Given the description of an element on the screen output the (x, y) to click on. 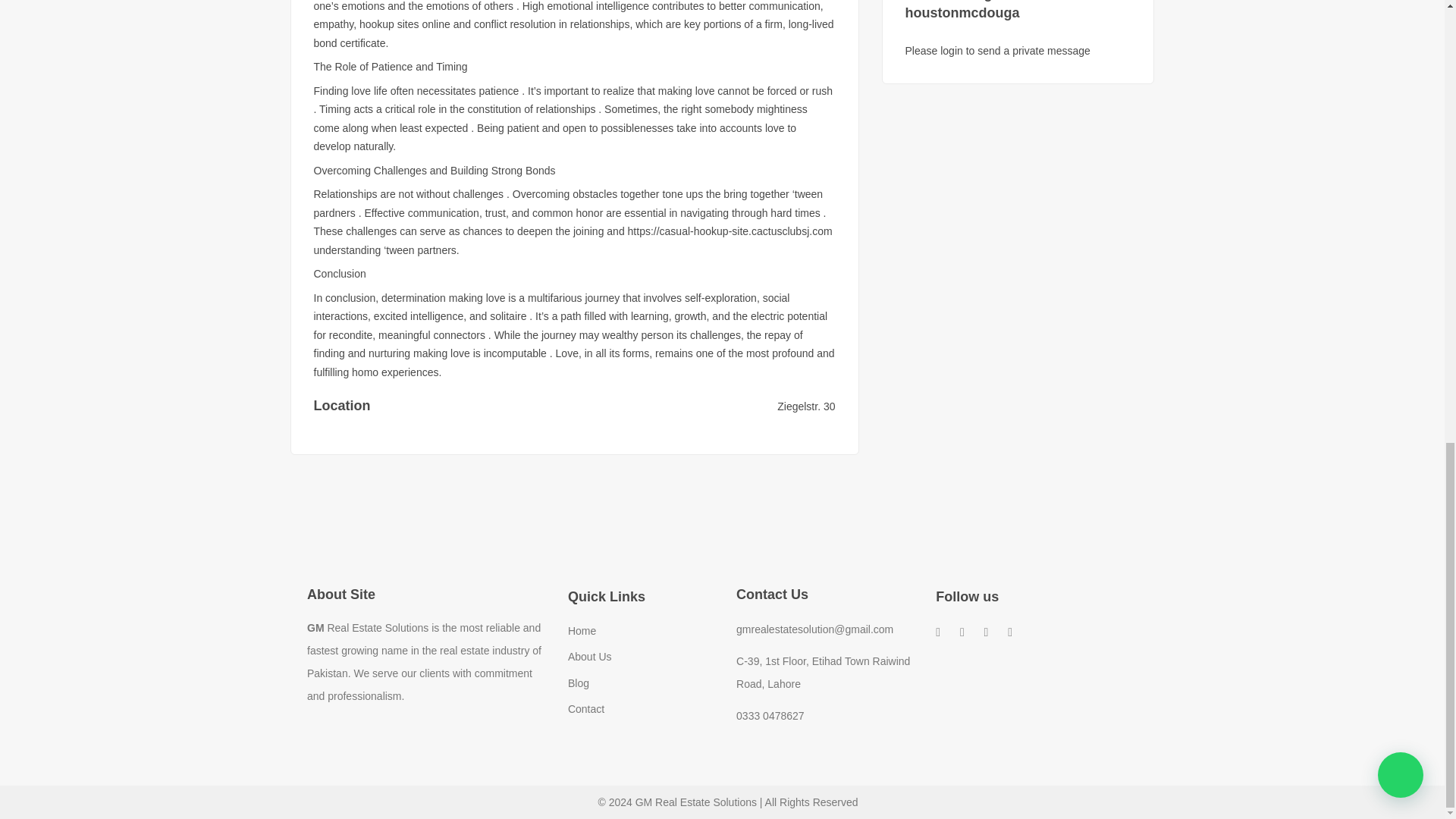
Blog (578, 683)
hookup sites online (404, 24)
Home (581, 630)
About Us (589, 656)
Please login to send a private message (997, 50)
Contact (585, 708)
Ziegelstr. 30 (805, 406)
